Given the description of an element on the screen output the (x, y) to click on. 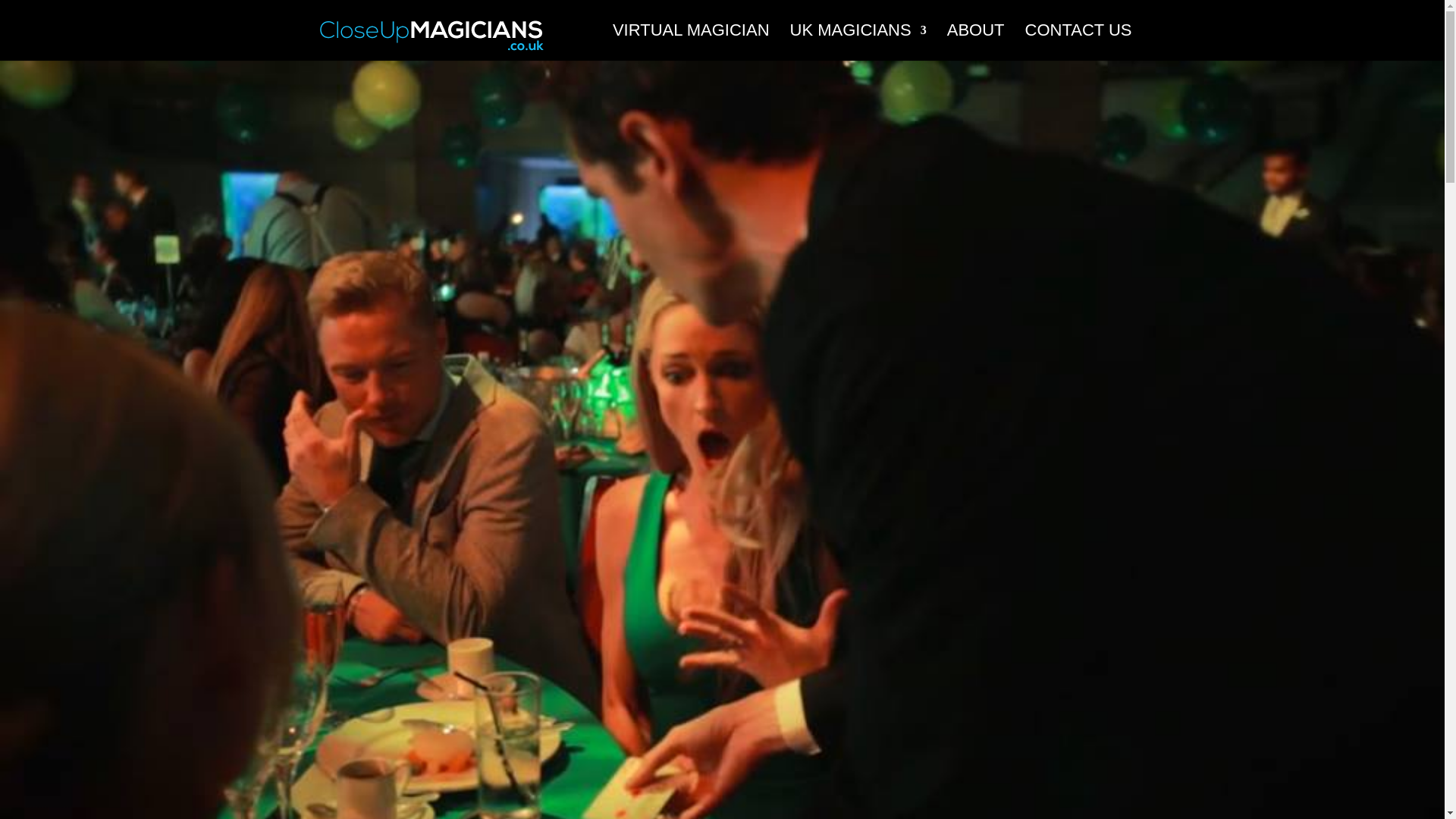
ABOUT (975, 42)
VIRTUAL MAGICIAN (691, 42)
CONTACT US (1078, 42)
Virtual Magician (691, 42)
UK MAGICIANS (858, 42)
